Given the description of an element on the screen output the (x, y) to click on. 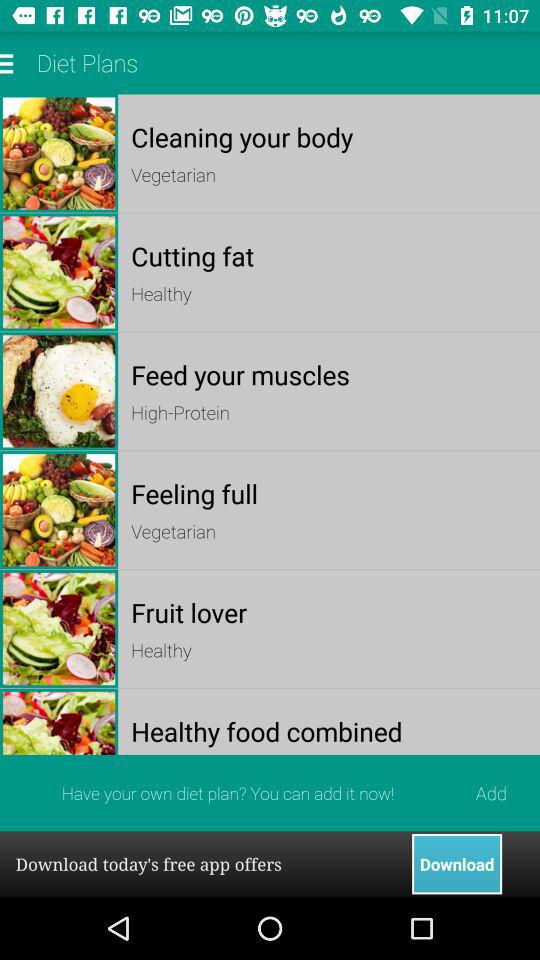
turn off the cleaning your body icon (328, 136)
